Given the description of an element on the screen output the (x, y) to click on. 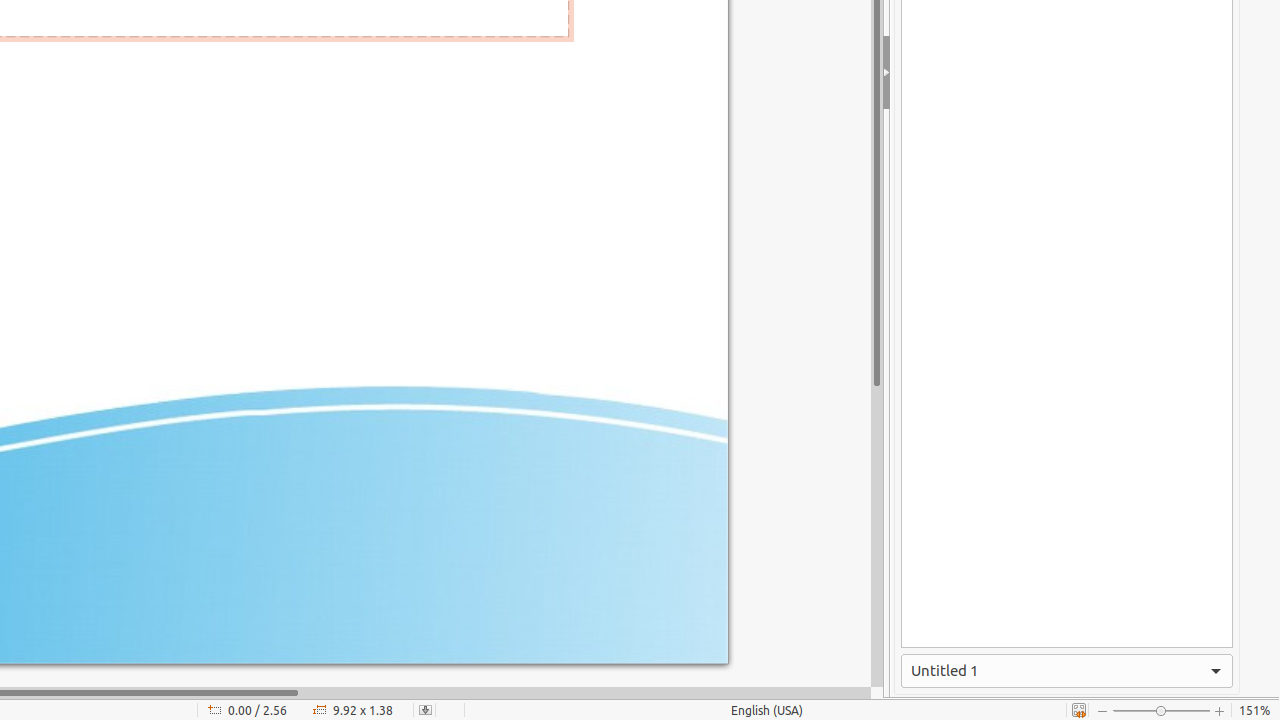
Active Window Element type: combo-box (1067, 671)
